Given the description of an element on the screen output the (x, y) to click on. 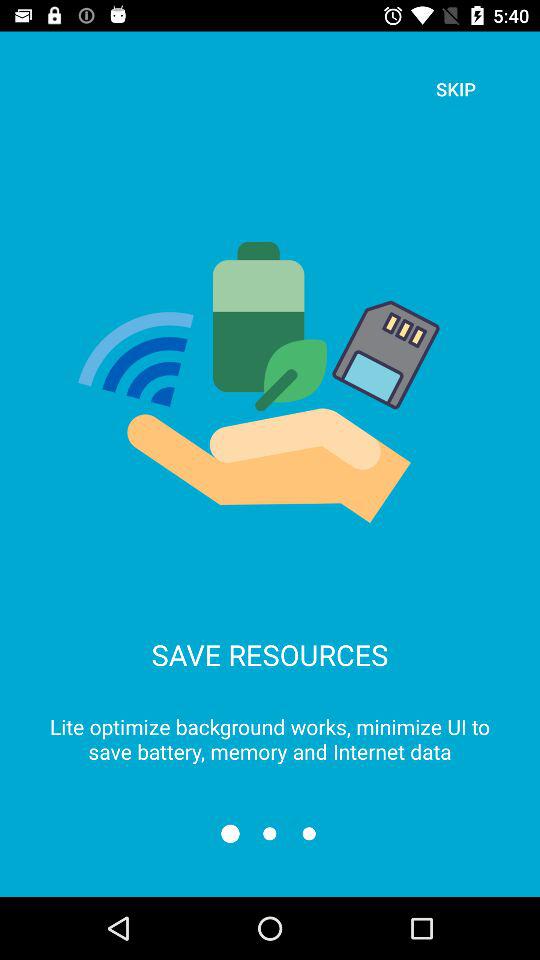
its a widget used to swipe the screen to a new page (269, 833)
